Given the description of an element on the screen output the (x, y) to click on. 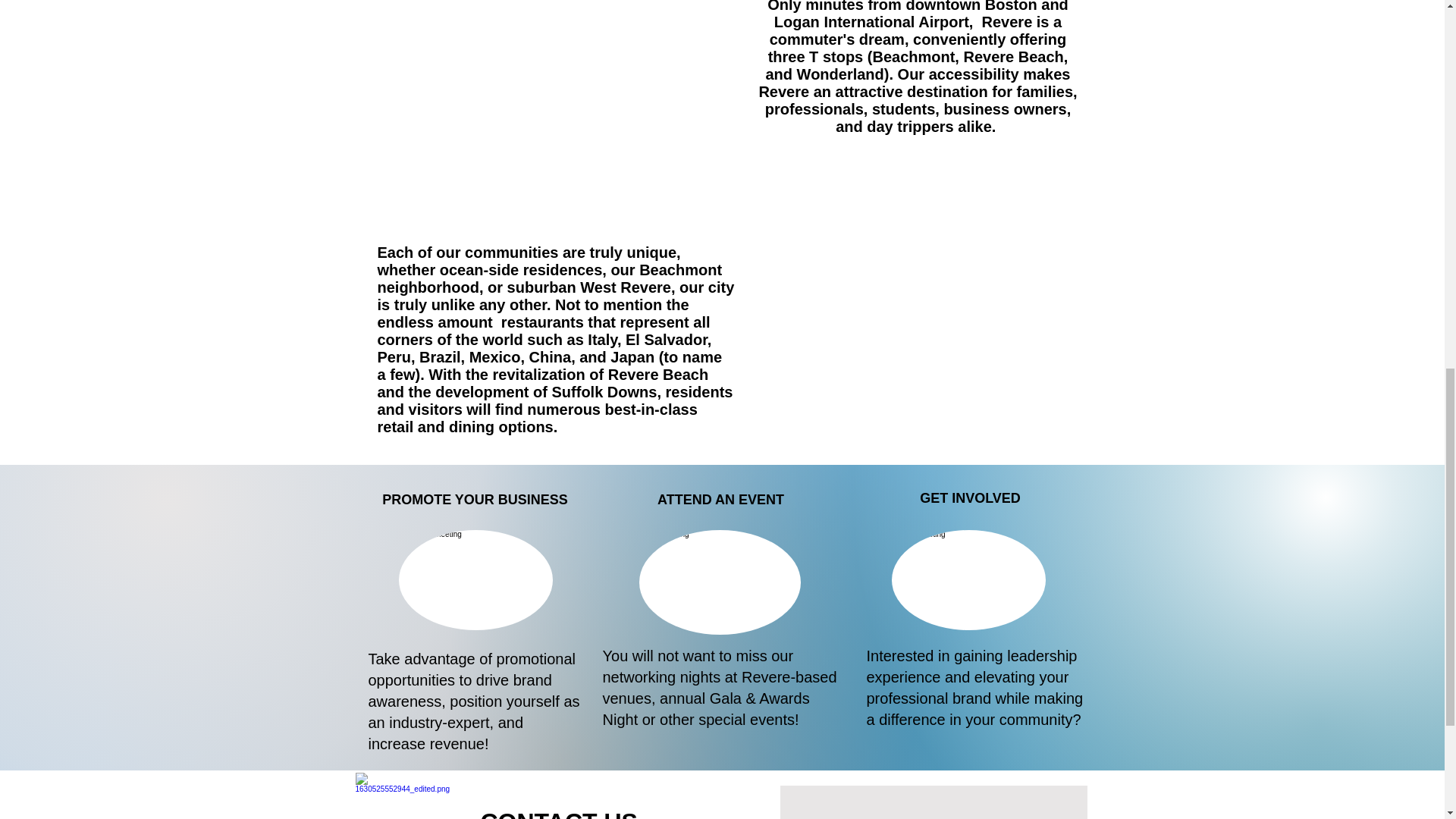
LEARN MORE (733, 795)
LEARN MORE (473, 795)
LEARN MORE (967, 795)
